Given the description of an element on the screen output the (x, y) to click on. 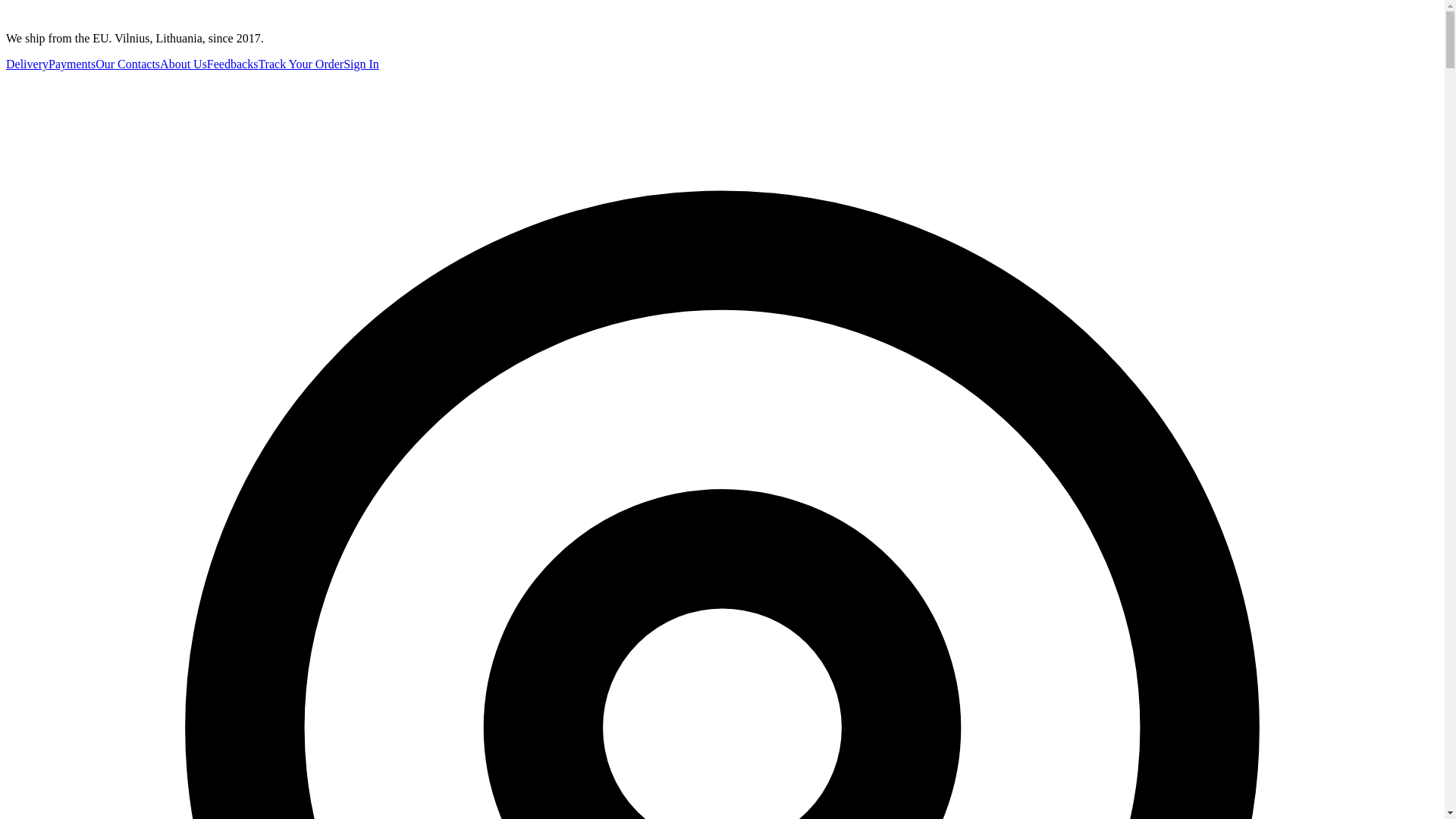
Payments (72, 63)
Track Your Order (300, 63)
Our Contacts (128, 63)
Sign In (360, 63)
Delivery (26, 63)
About Us (183, 63)
Feedbacks (232, 63)
